Given the description of an element on the screen output the (x, y) to click on. 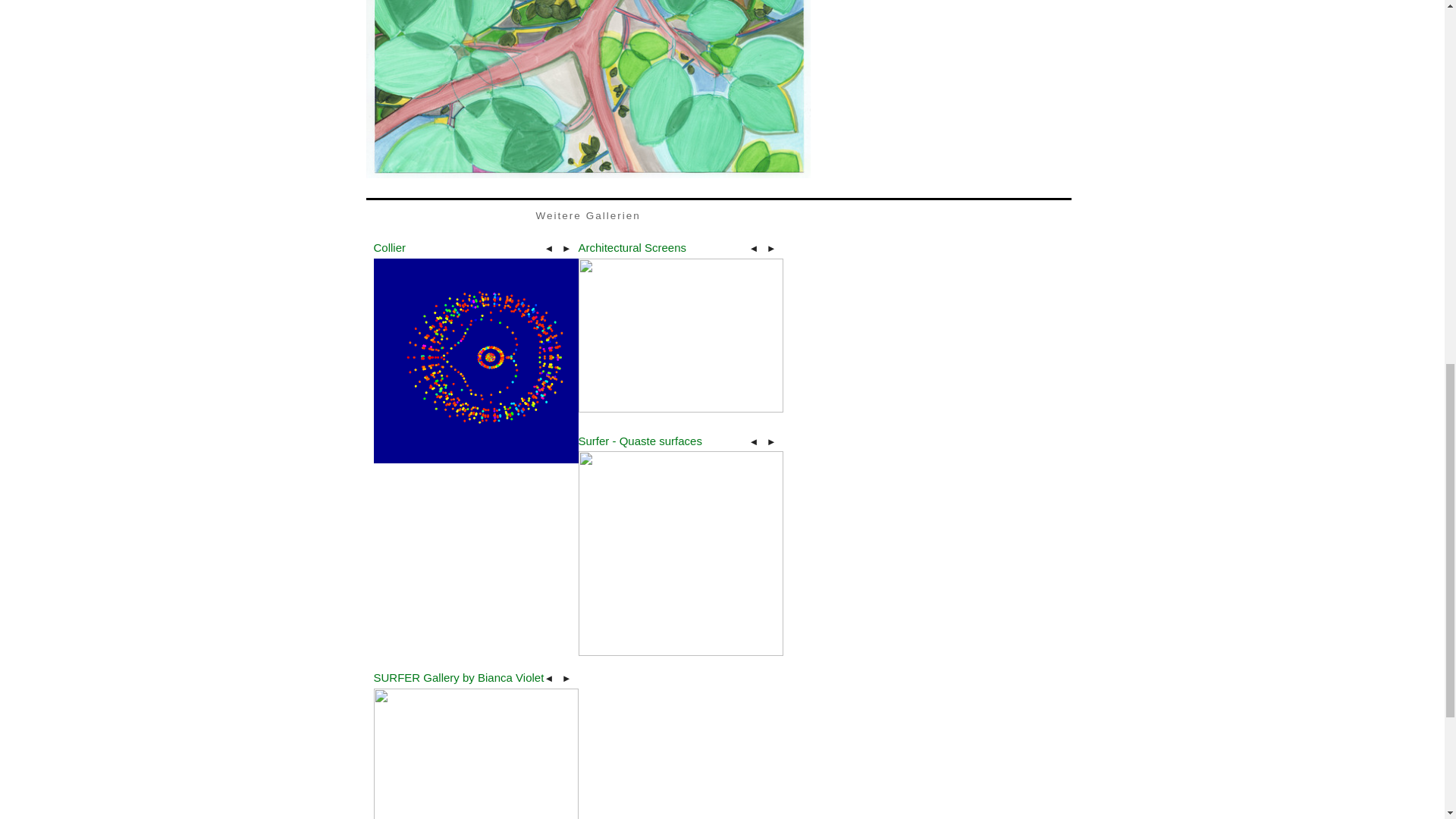
Collier (389, 246)
